Given the description of an element on the screen output the (x, y) to click on. 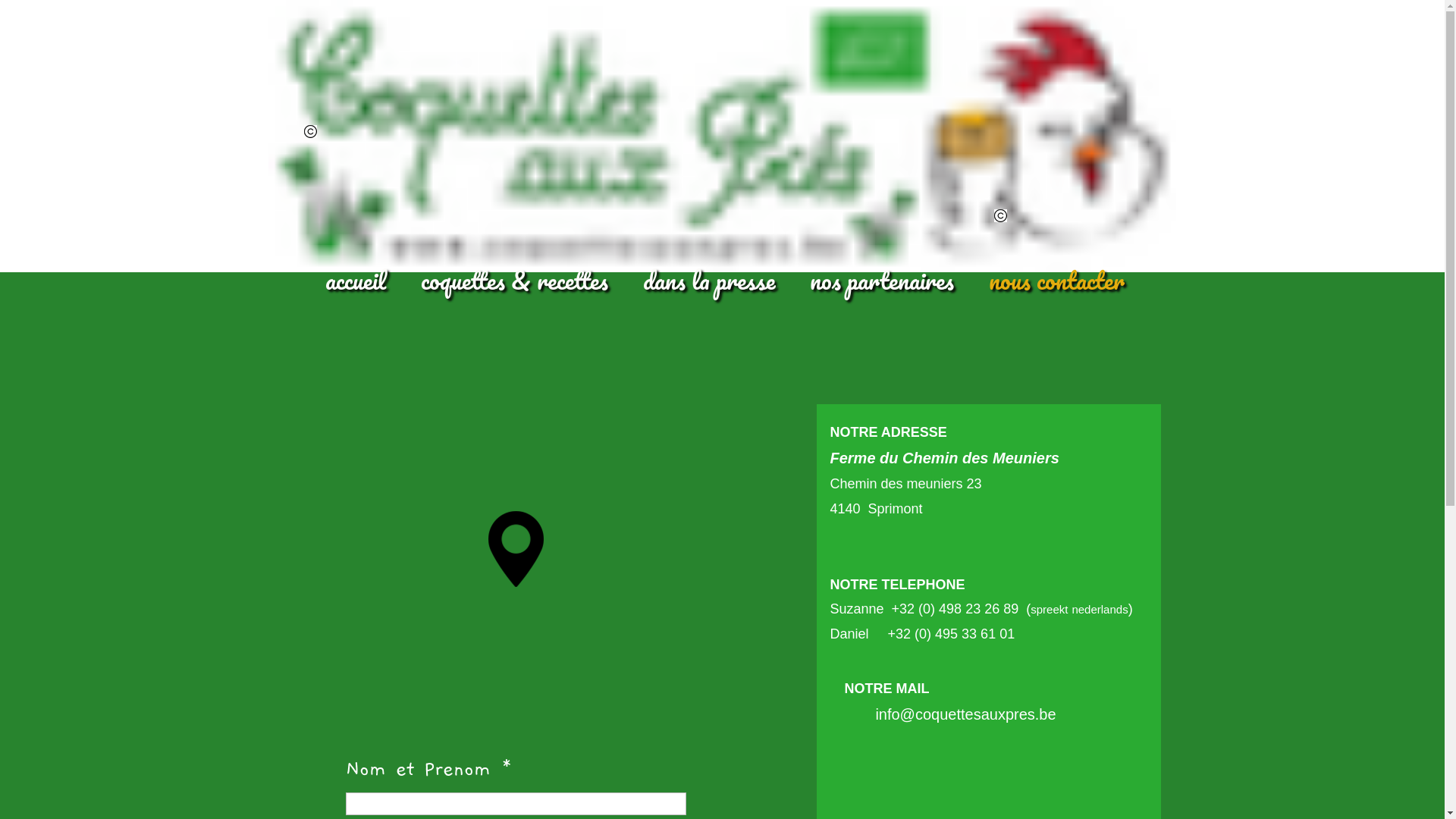
nous contacter Element type: text (1055, 283)
info@coquettesauxpres.be Element type: text (965, 714)
coquettes & recettes Element type: text (514, 283)
dans la presse Element type: text (707, 283)
accueil Element type: text (355, 283)
  Element type: text (515, 517)
nos partenaires Element type: text (880, 283)
